Given the description of an element on the screen output the (x, y) to click on. 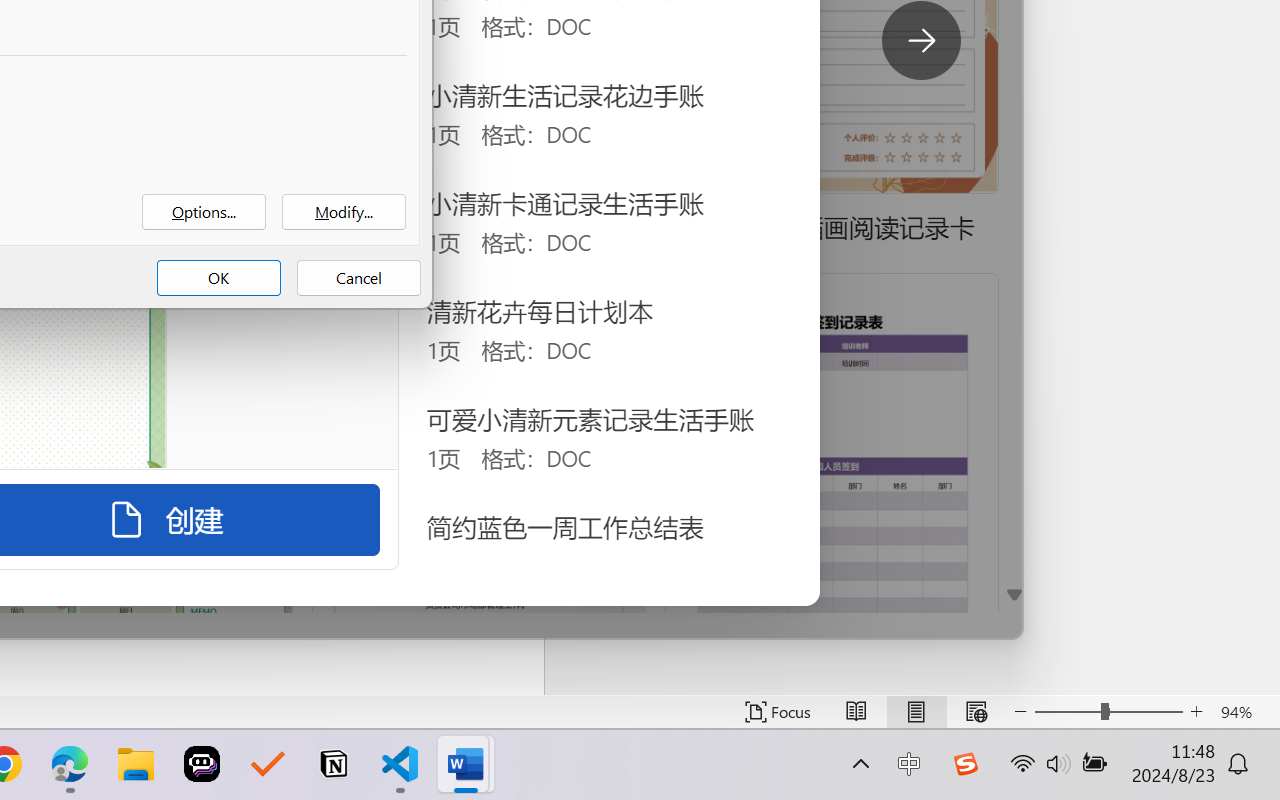
Cancel (358, 277)
OK (218, 277)
Modify... (344, 211)
Options... (203, 211)
